Given the description of an element on the screen output the (x, y) to click on. 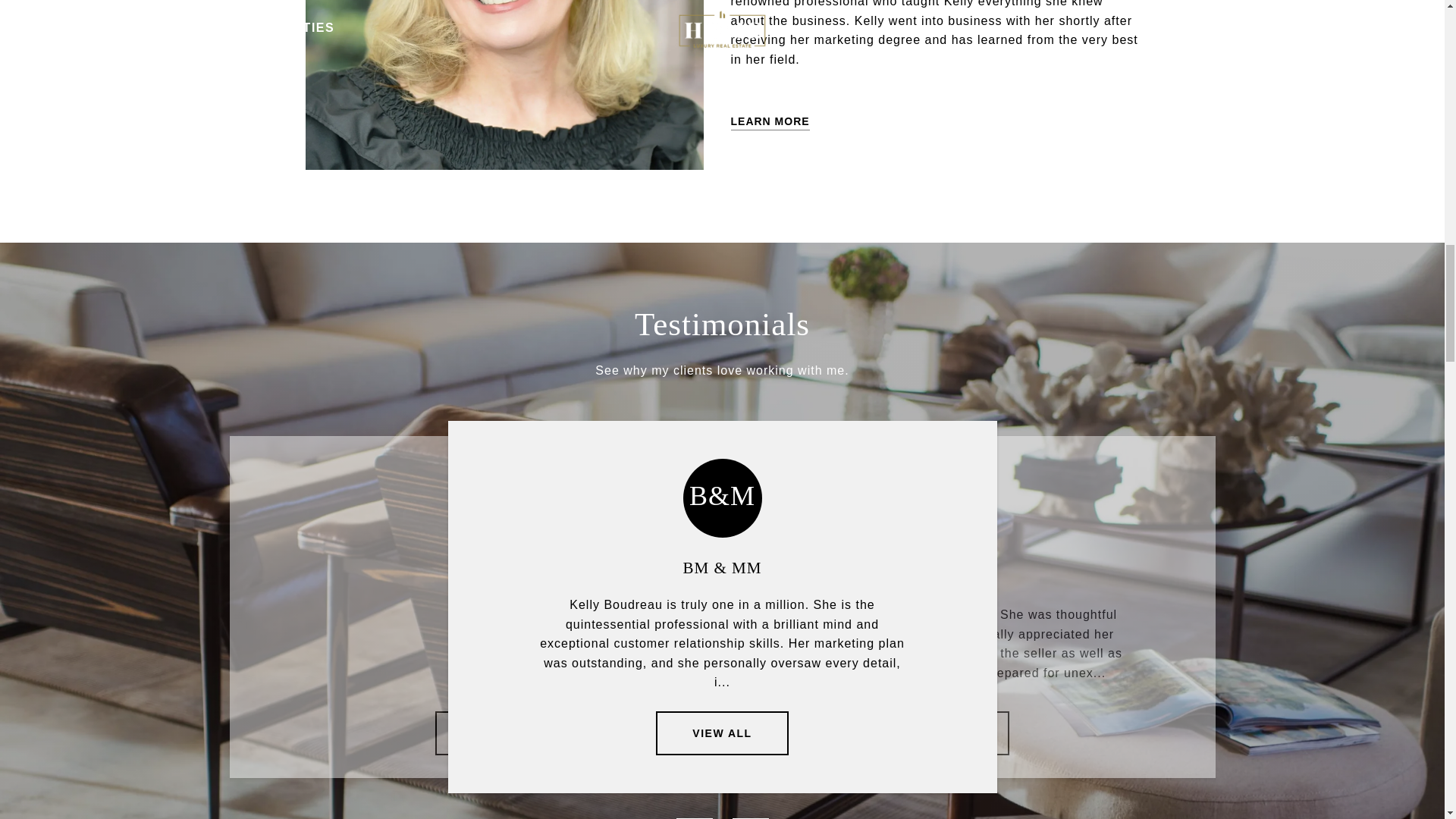
VIEW ALL (942, 733)
VIEW ALL (501, 733)
VIEW ALL (721, 733)
LEARN MORE (769, 121)
